Given the description of an element on the screen output the (x, y) to click on. 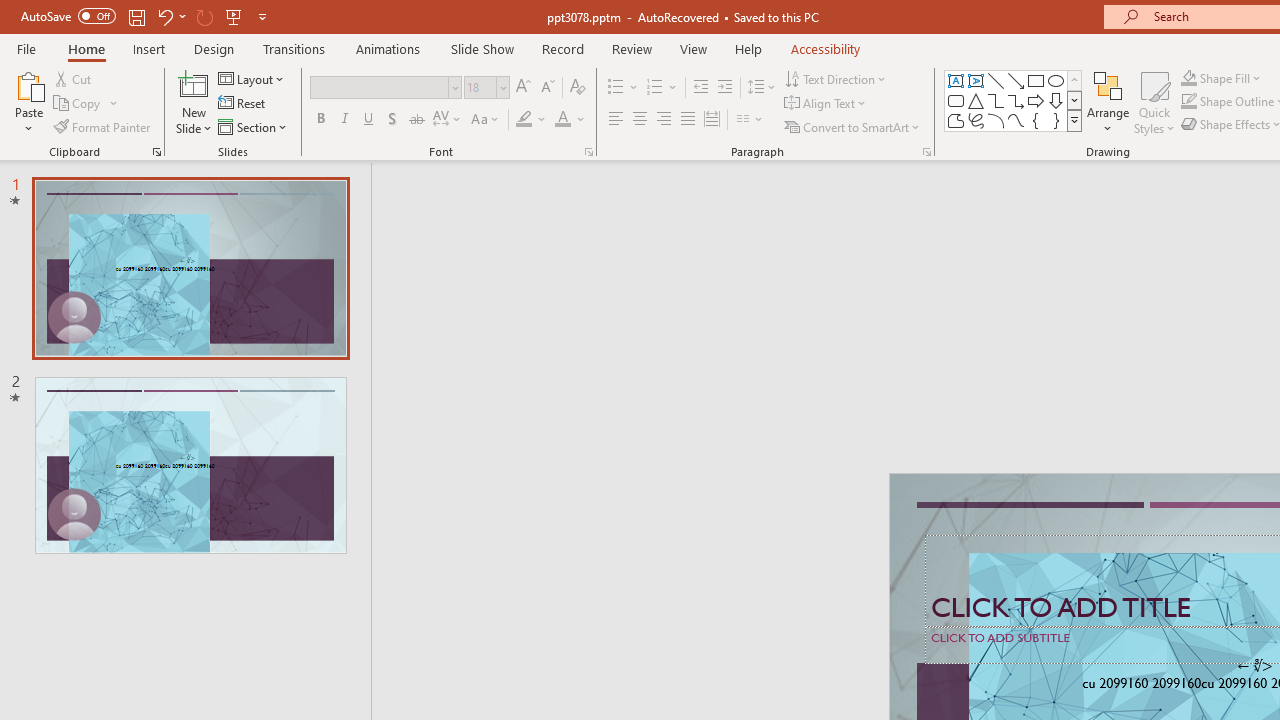
Shape Outline Green, Accent 1 (1188, 101)
Paragraph... (926, 151)
Section (254, 126)
